Given the description of an element on the screen output the (x, y) to click on. 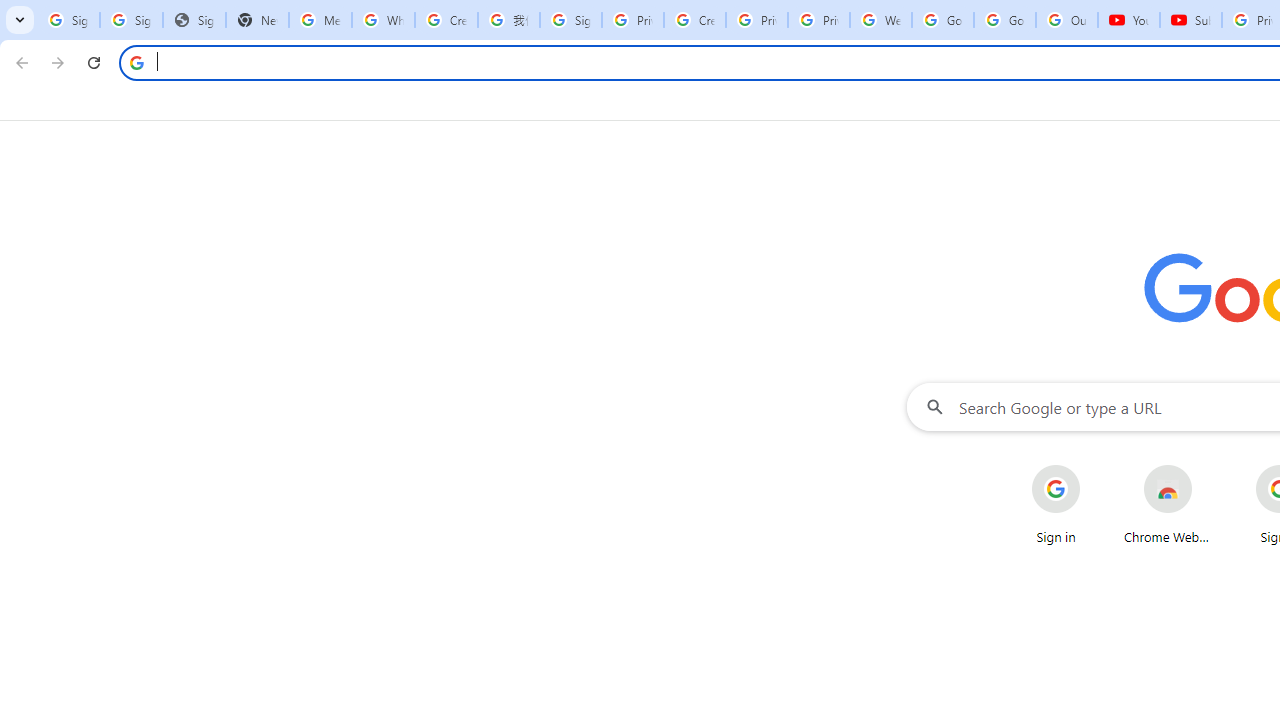
Sign in - Google Accounts (68, 20)
Who is my administrator? - Google Account Help (383, 20)
New Tab (257, 20)
Welcome to My Activity (880, 20)
Chrome Web Store (1167, 504)
Google Account (1004, 20)
Sign in - Google Accounts (130, 20)
